Given the description of an element on the screen output the (x, y) to click on. 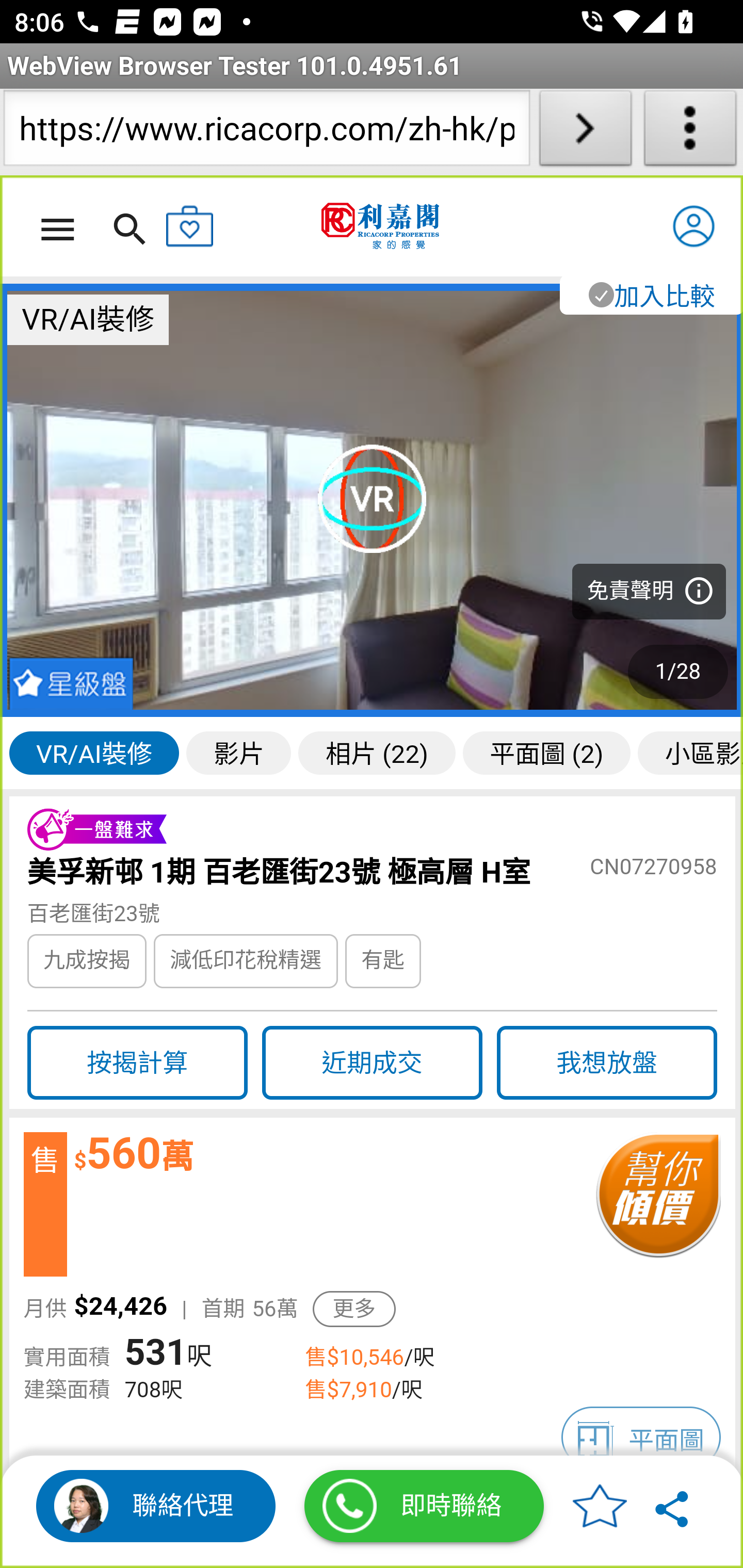
Load URL (585, 132)
About WebView (690, 132)
image watermark 免責聲明 (372, 499)
unchecked 加入比較 (650, 294)
免責聲明 (648, 591)
VR/AI裝修 (93, 752)
影片 (238, 752)
相片 (22) (376, 752)
平面圖 (2) (547, 752)
小區影片 (2) (690, 752)
按揭計算 (136, 1062)
近期成交 (371, 1062)
我想放盤 (606, 1062)
negotiation (657, 1204)
更多 (353, 1309)
平面圖 (640, 1437)
April Chan 聯絡代理 (156, 1505)
whatsapp 即時聯絡 (424, 1505)
Share button (672, 1505)
